Given the description of an element on the screen output the (x, y) to click on. 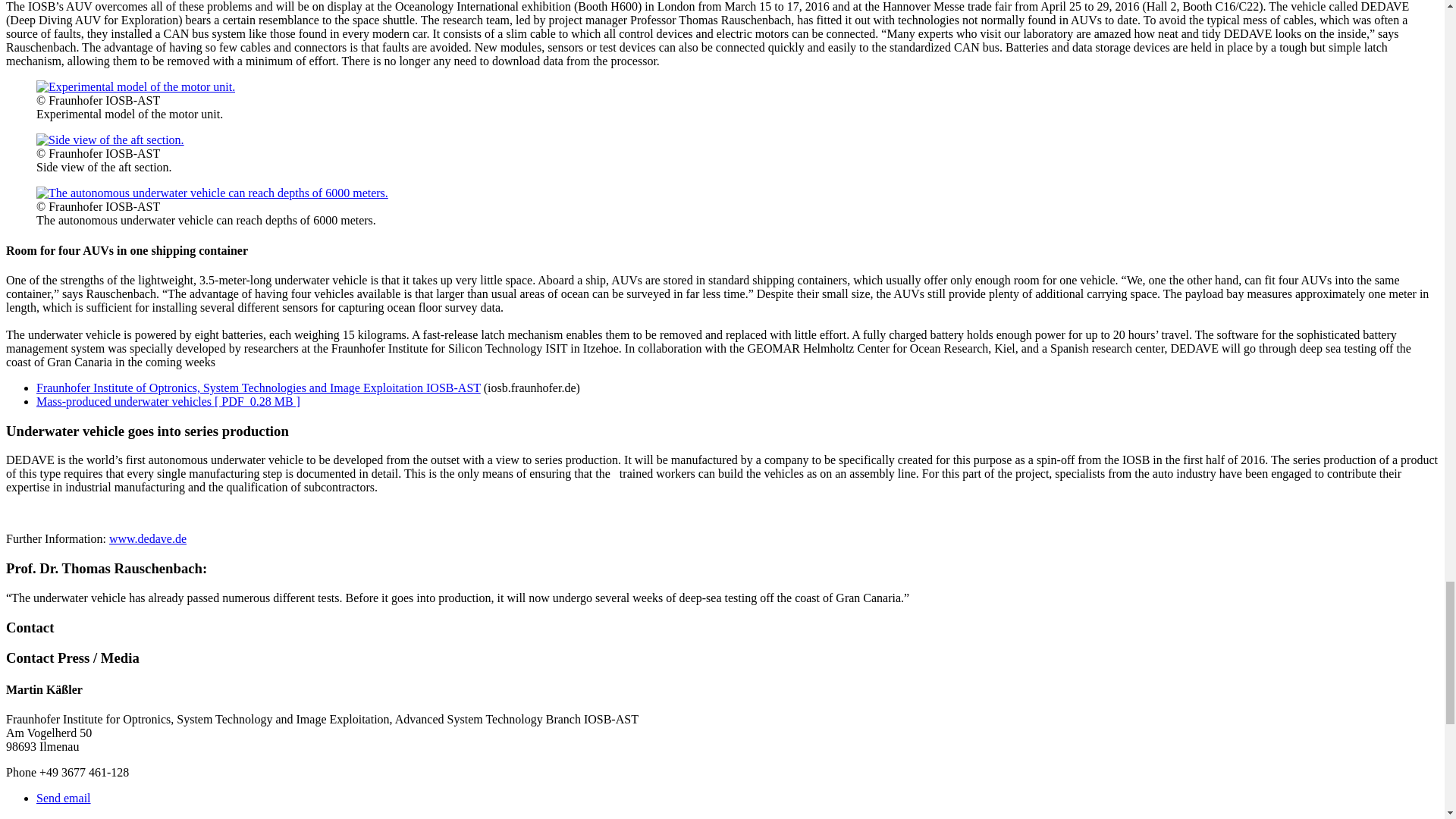
Mass-produced underwater vehicles (110, 140)
Mass-produced underwater vehicles (212, 192)
Mass-produced underwater vehicles (110, 139)
Mass-produced underwater vehicles (212, 192)
Mass-produced underwater vehicles (135, 87)
Mass-produced underwater vehicles (135, 86)
